Given the description of an element on the screen output the (x, y) to click on. 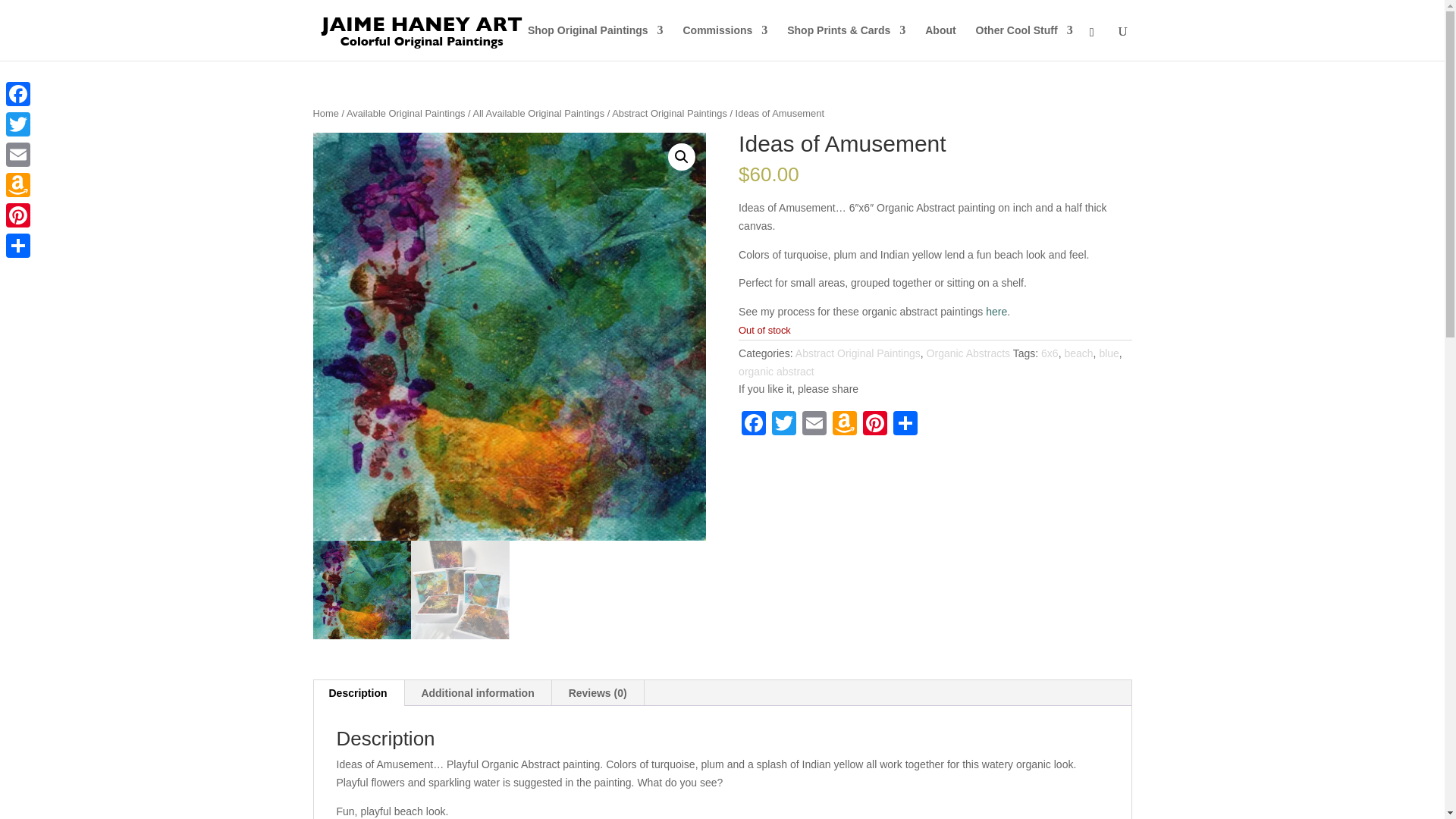
Prints of my original paintings ready to frame (846, 42)
Commissions (724, 42)
Facebook (753, 424)
Twitter (783, 424)
Other Cool Stuff (1024, 42)
Shop Original Paintings (595, 42)
Email (814, 424)
